Given the description of an element on the screen output the (x, y) to click on. 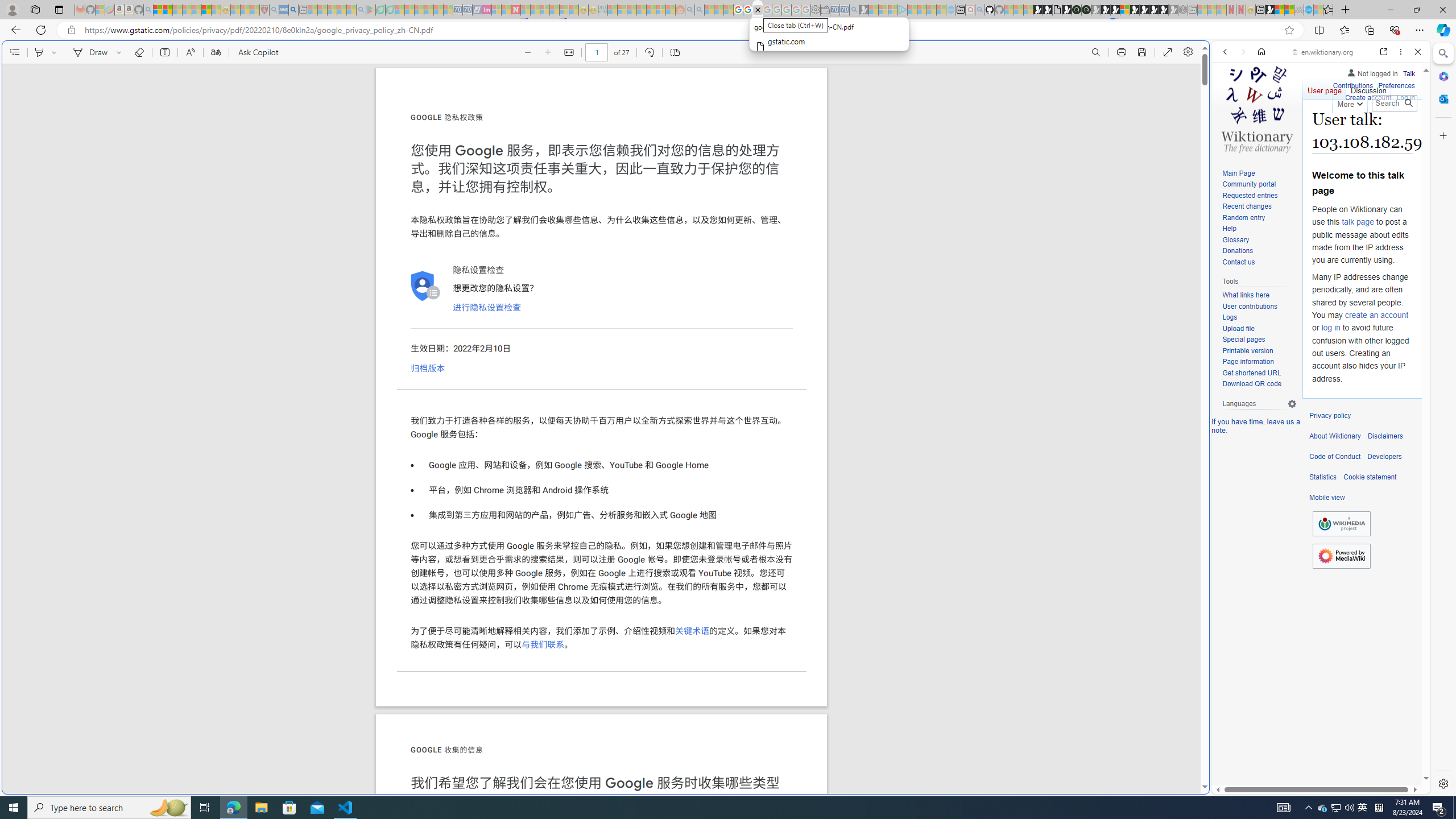
Download QR code (1259, 383)
github - Search - Sleeping (979, 9)
Class: b_serphb (1404, 130)
Latest Politics News & Archive | Newsweek.com - Sleeping (515, 9)
Home | Sky Blue Bikes - Sky Blue Bikes (1118, 242)
Talk (1408, 73)
Search or enter web address (922, 108)
Play Zoo Boom in your browser | Games from Microsoft Start (1047, 9)
Microsoft account | Privacy - Sleeping (892, 9)
Services - Maintenance | Sky Blue Bikes - Sky Blue Bikes (1307, 9)
